Given the description of an element on the screen output the (x, y) to click on. 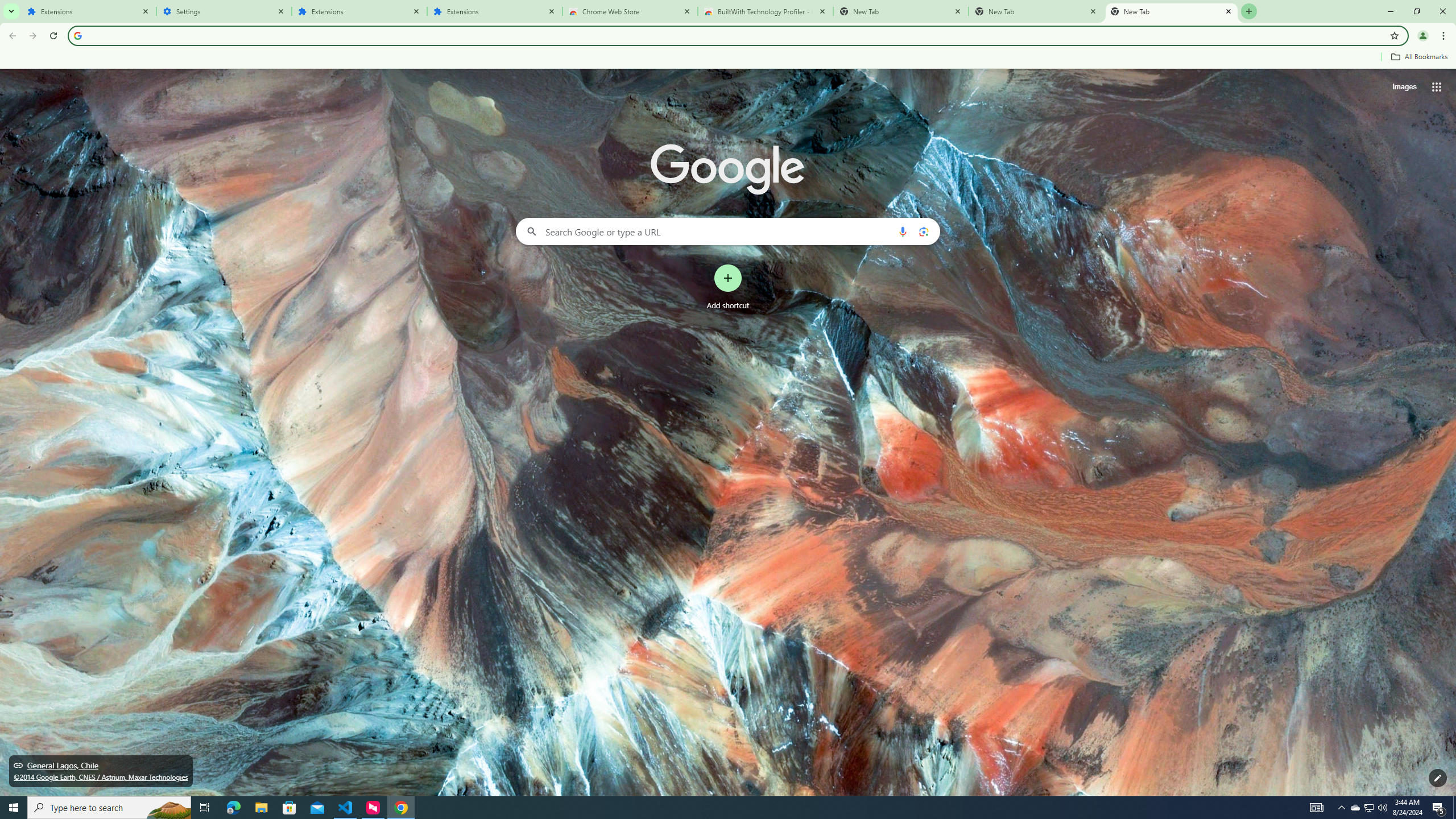
All Bookmarks (1418, 56)
Search Google or type a URL (727, 230)
Chrome Web Store (630, 11)
Extensions (359, 11)
